Given the description of an element on the screen output the (x, y) to click on. 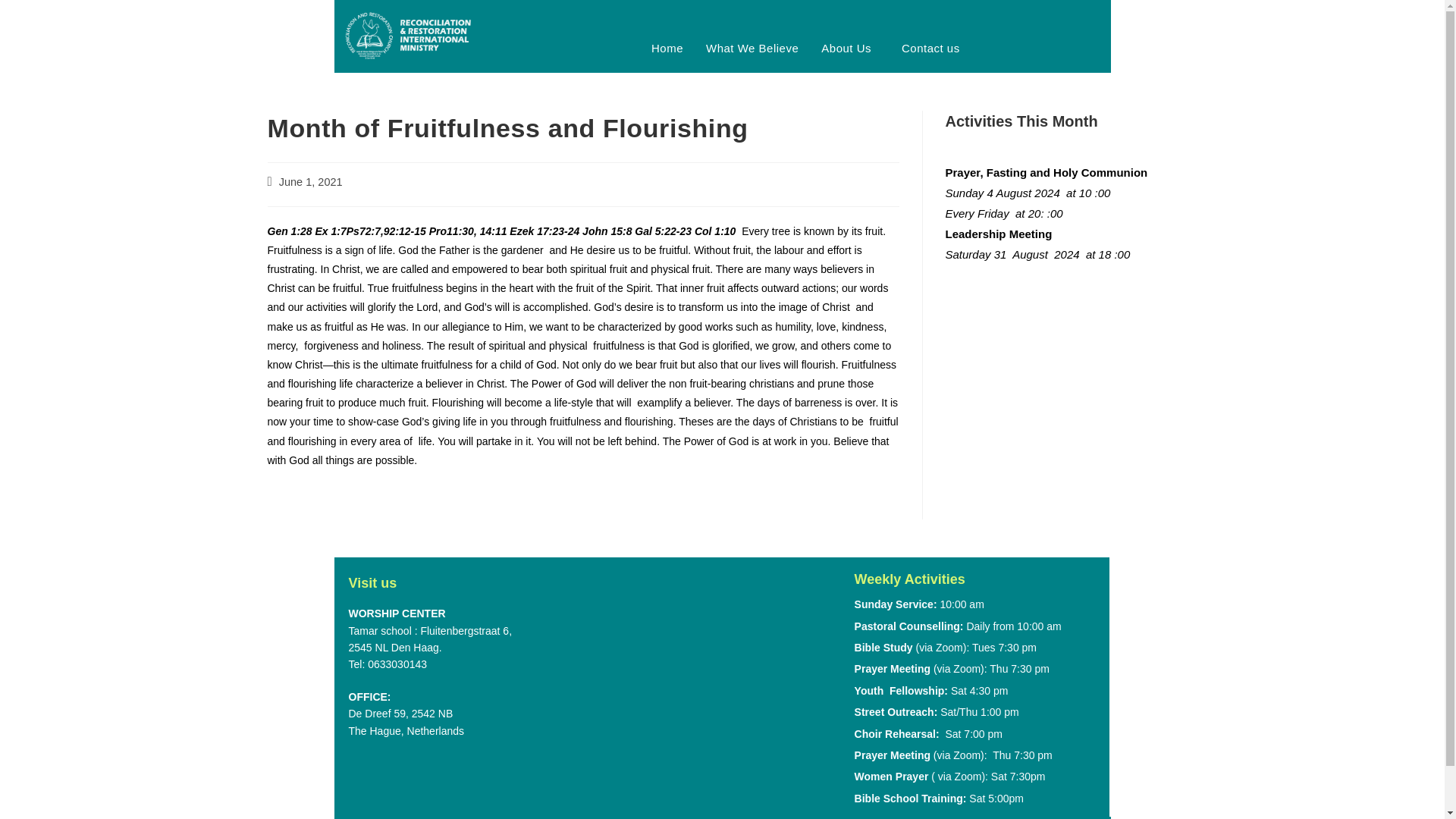
Contact us (930, 48)
Tamar school : Fluitenbergstraat 6, 2545 NL Den Haag. (700, 686)
Home (667, 48)
About Us (849, 48)
What We Believe (751, 48)
